Given the description of an element on the screen output the (x, y) to click on. 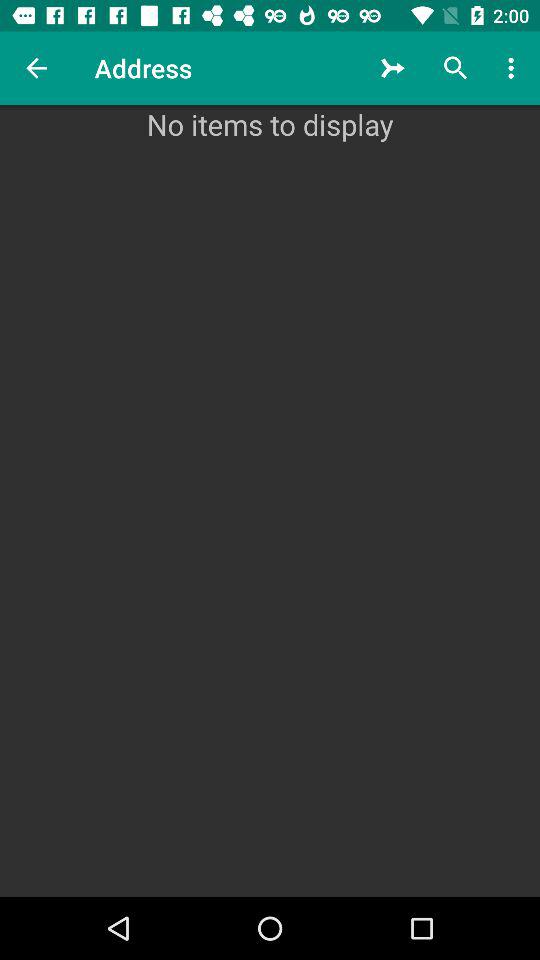
tap the icon next to address (392, 67)
